Given the description of an element on the screen output the (x, y) to click on. 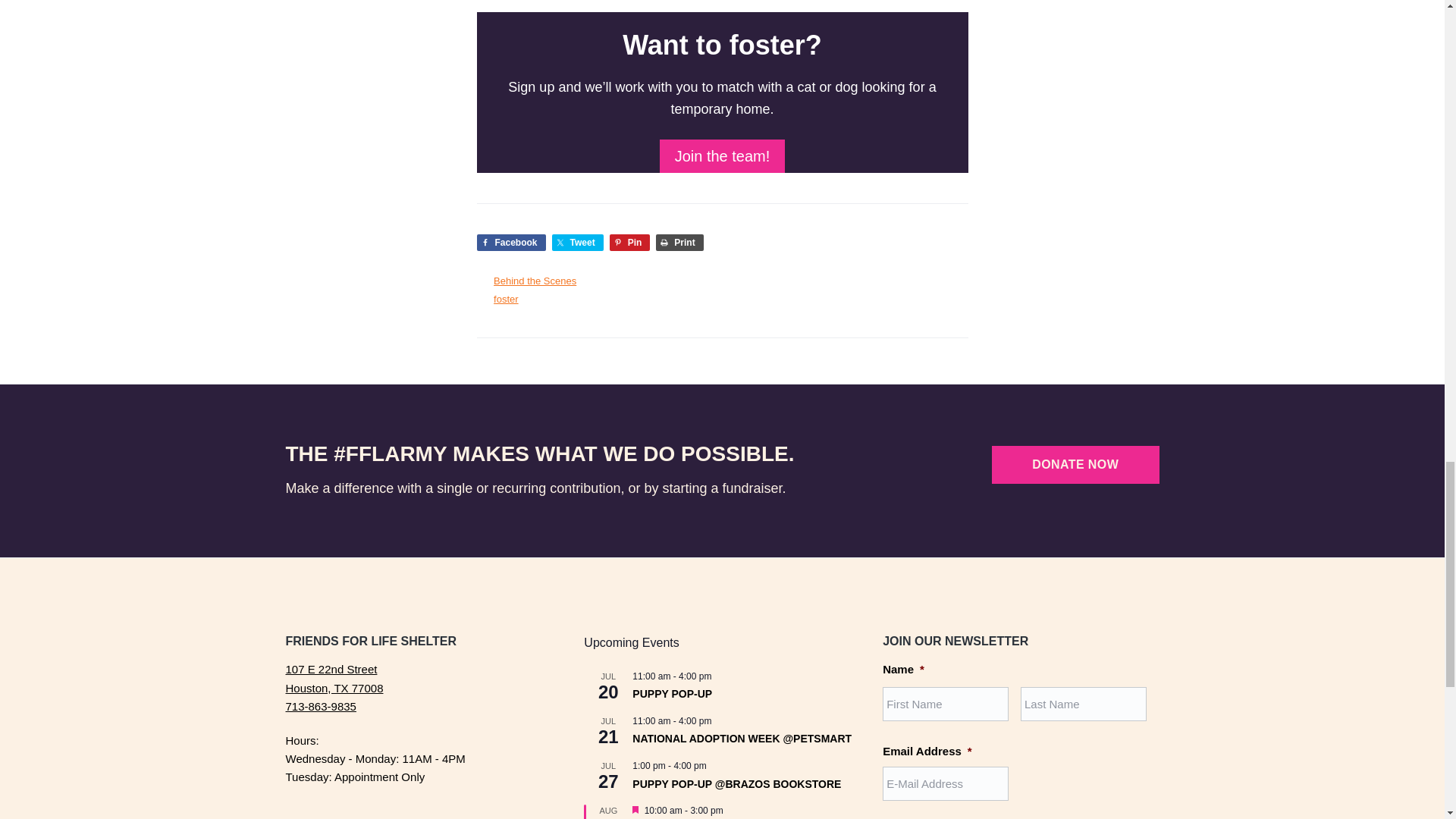
Share on Twitter (577, 242)
Print this Page (679, 242)
Share on Pinterest (630, 242)
Puppy Pop-up (671, 694)
Share on Facebook (510, 242)
